Given the description of an element on the screen output the (x, y) to click on. 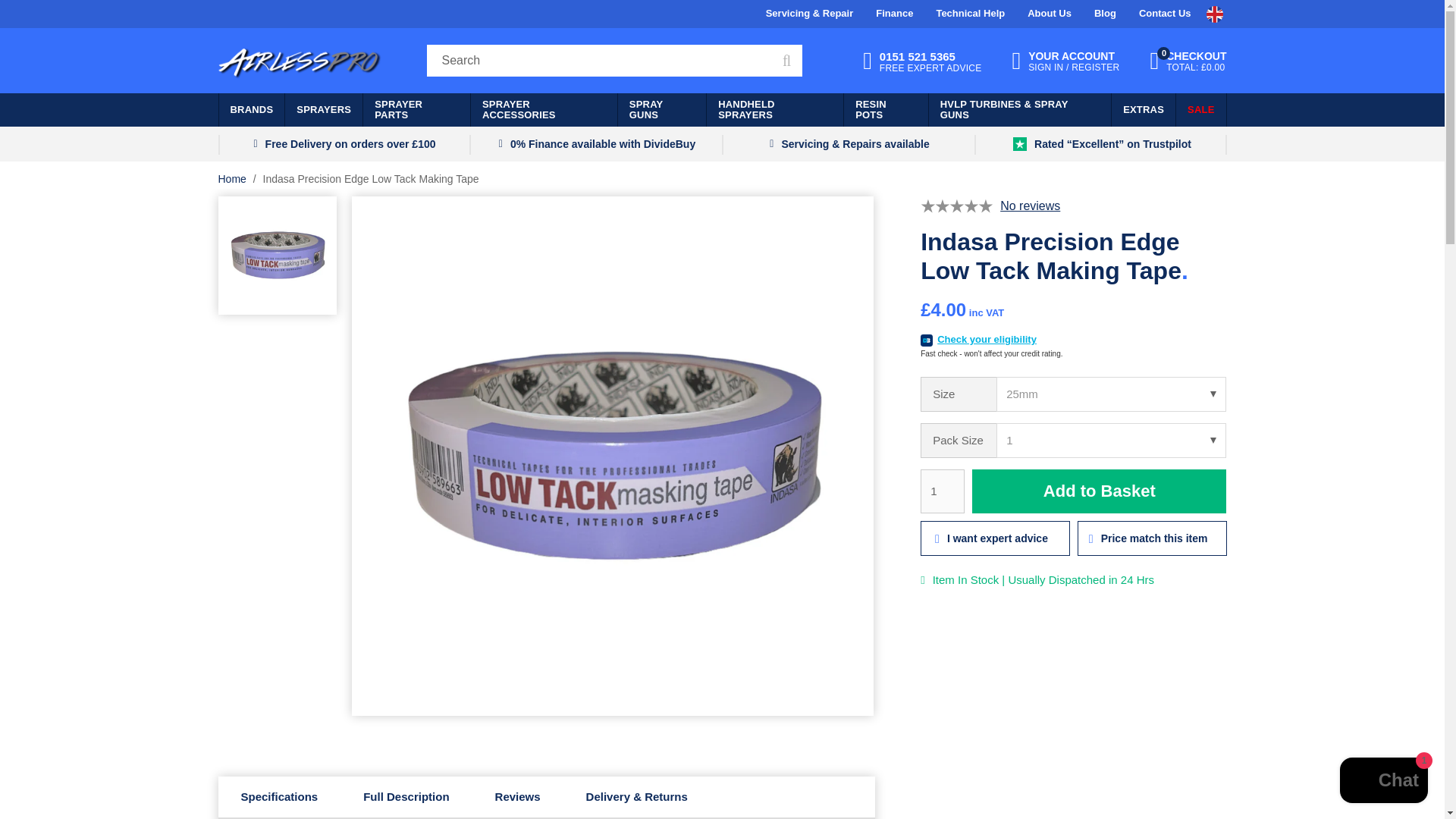
Airless Pro (922, 60)
Price match this item (299, 60)
About Us (1152, 538)
Sign In (1049, 13)
Add to Basket (1065, 60)
Technical Help (1098, 491)
Home (970, 13)
For free expert advice call us on 0151 521 5365 (232, 178)
Contact Us (922, 60)
submit (1164, 13)
I want expert advice (784, 60)
Blog (995, 538)
Finance (1104, 13)
Link to Larger Image (894, 13)
